Given the description of an element on the screen output the (x, y) to click on. 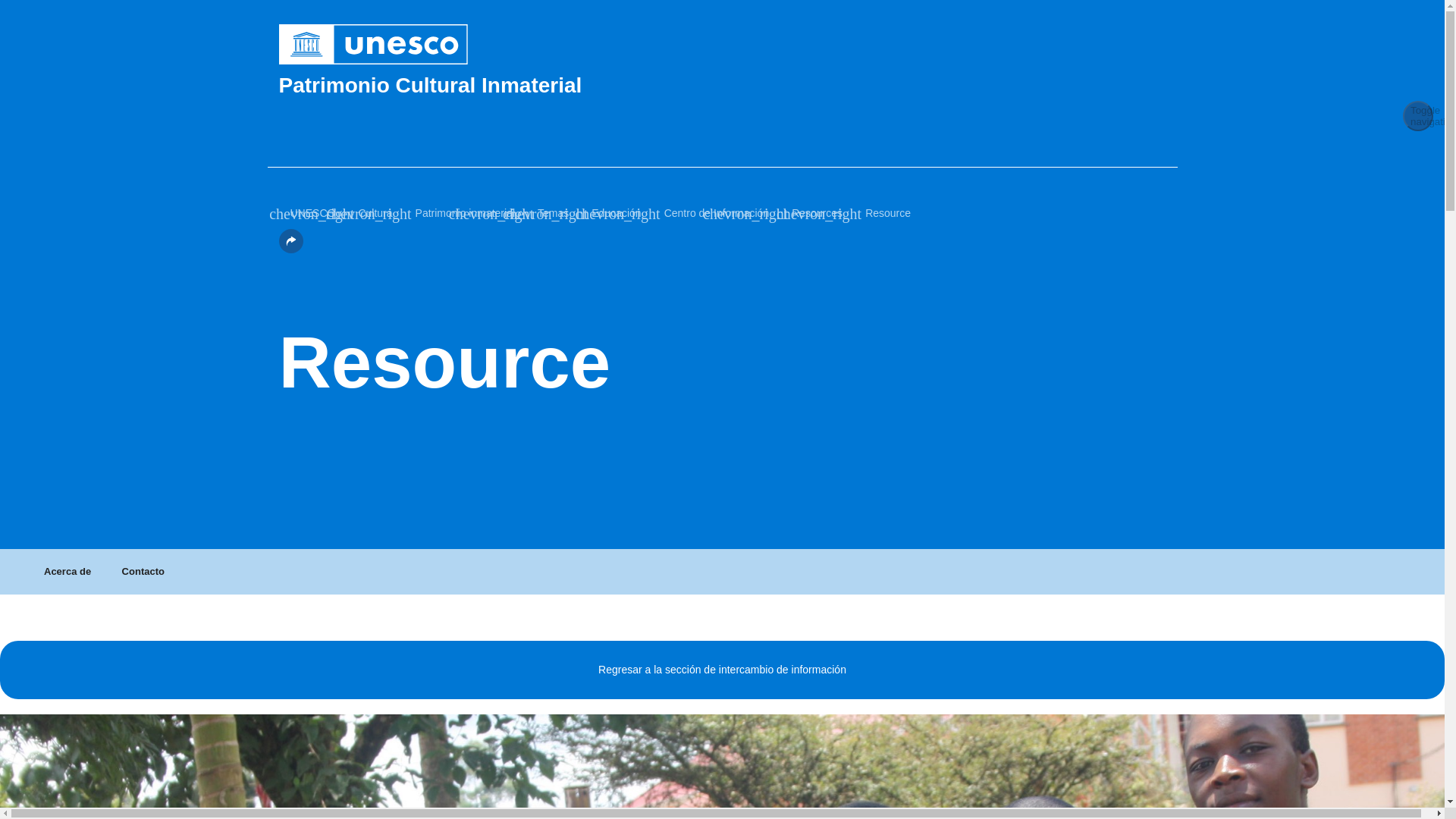
Patrimonio Cultural Inmaterial (722, 84)
Toggle navigation (1417, 115)
Vinculo hacia el portal de la UNESCO (722, 44)
